Given the description of an element on the screen output the (x, y) to click on. 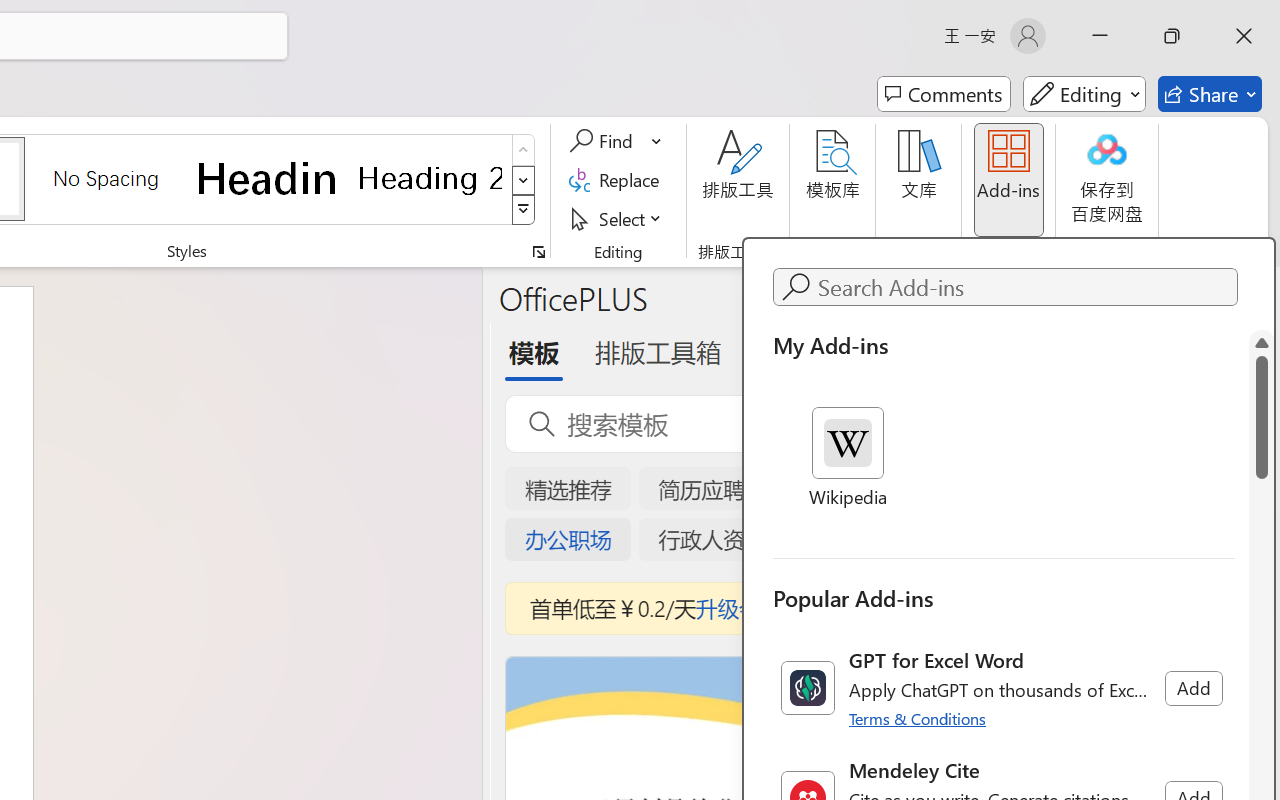
Mode (1083, 94)
Line up (1261, 342)
Find (604, 141)
Wikipedia (847, 459)
Add (1193, 688)
Share (1210, 94)
Search Add-ins (1023, 287)
Select (618, 218)
GPT for Excel Word (1004, 688)
